Given the description of an element on the screen output the (x, y) to click on. 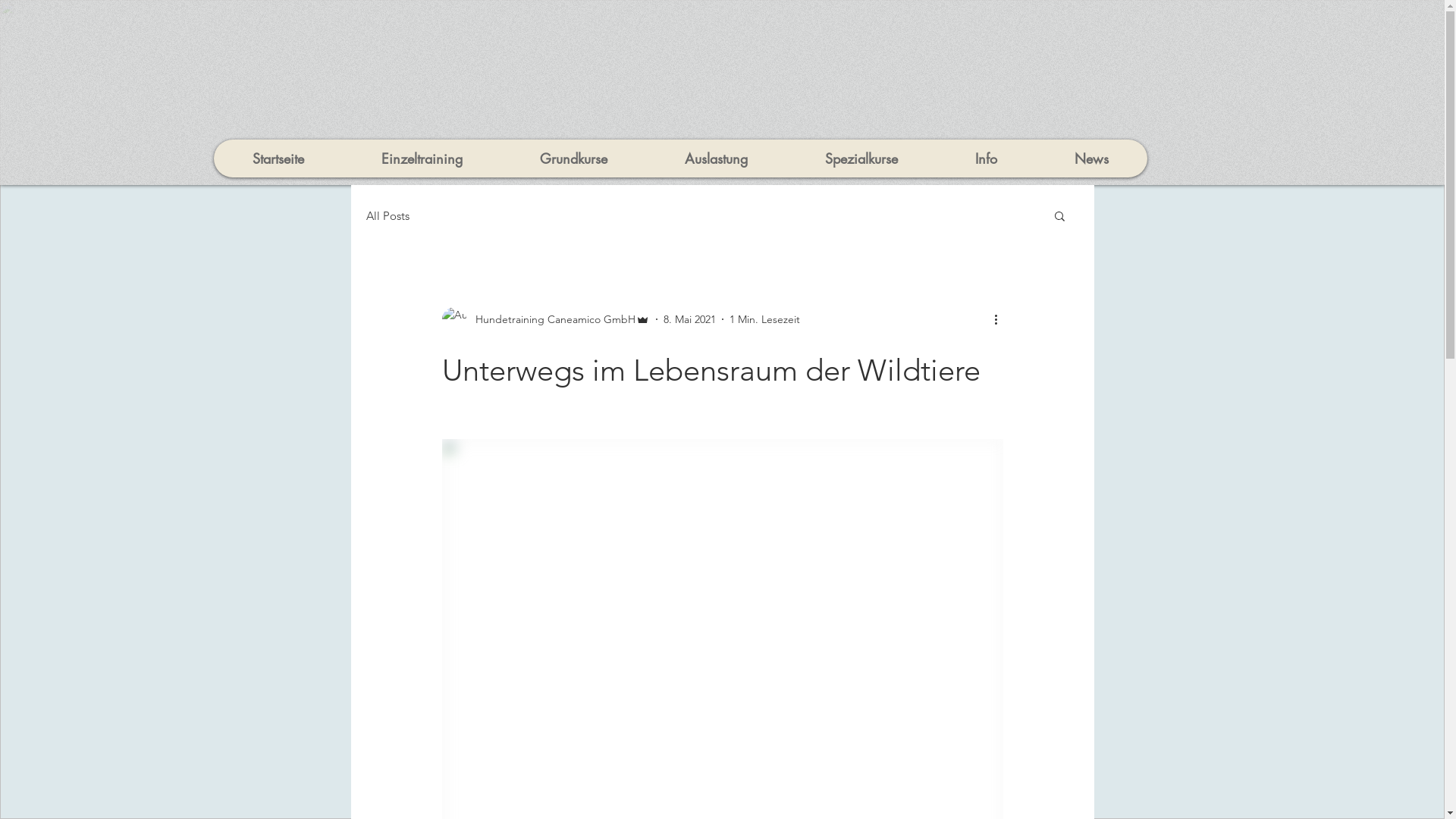
Hundetraining Caneamico GmbH Element type: text (545, 319)
Spezialkurse Element type: text (860, 158)
Auslastung Element type: text (716, 158)
Info Element type: text (985, 158)
News Element type: text (1091, 158)
Einzeltraining Element type: text (421, 158)
Grundkurse Element type: text (572, 158)
Startseite Element type: text (277, 158)
All Posts Element type: text (386, 214)
